Given the description of an element on the screen output the (x, y) to click on. 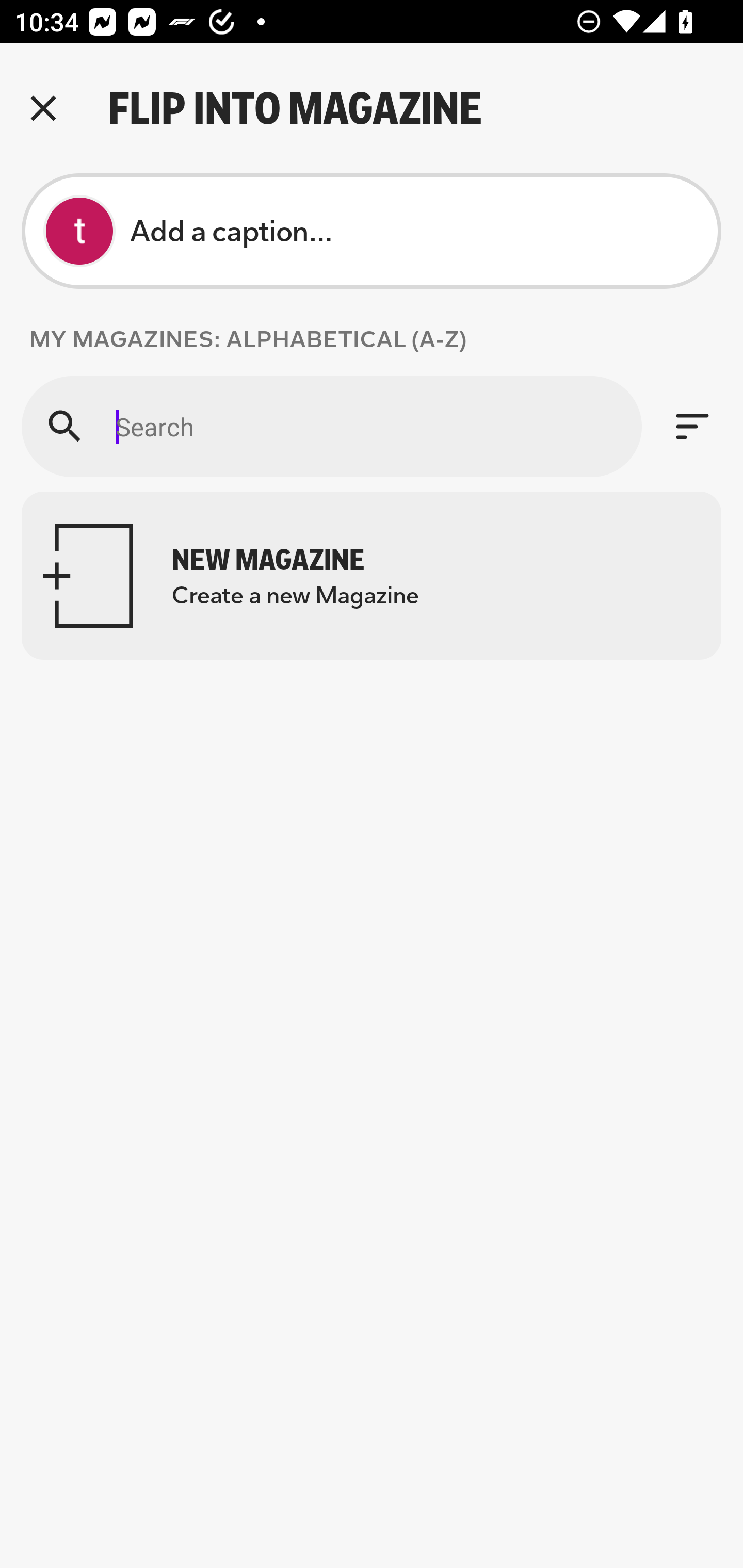
test appium Add a caption… (371, 231)
Search (331, 426)
NEW MAGAZINE Create a new Magazine (371, 575)
